Given the description of an element on the screen output the (x, y) to click on. 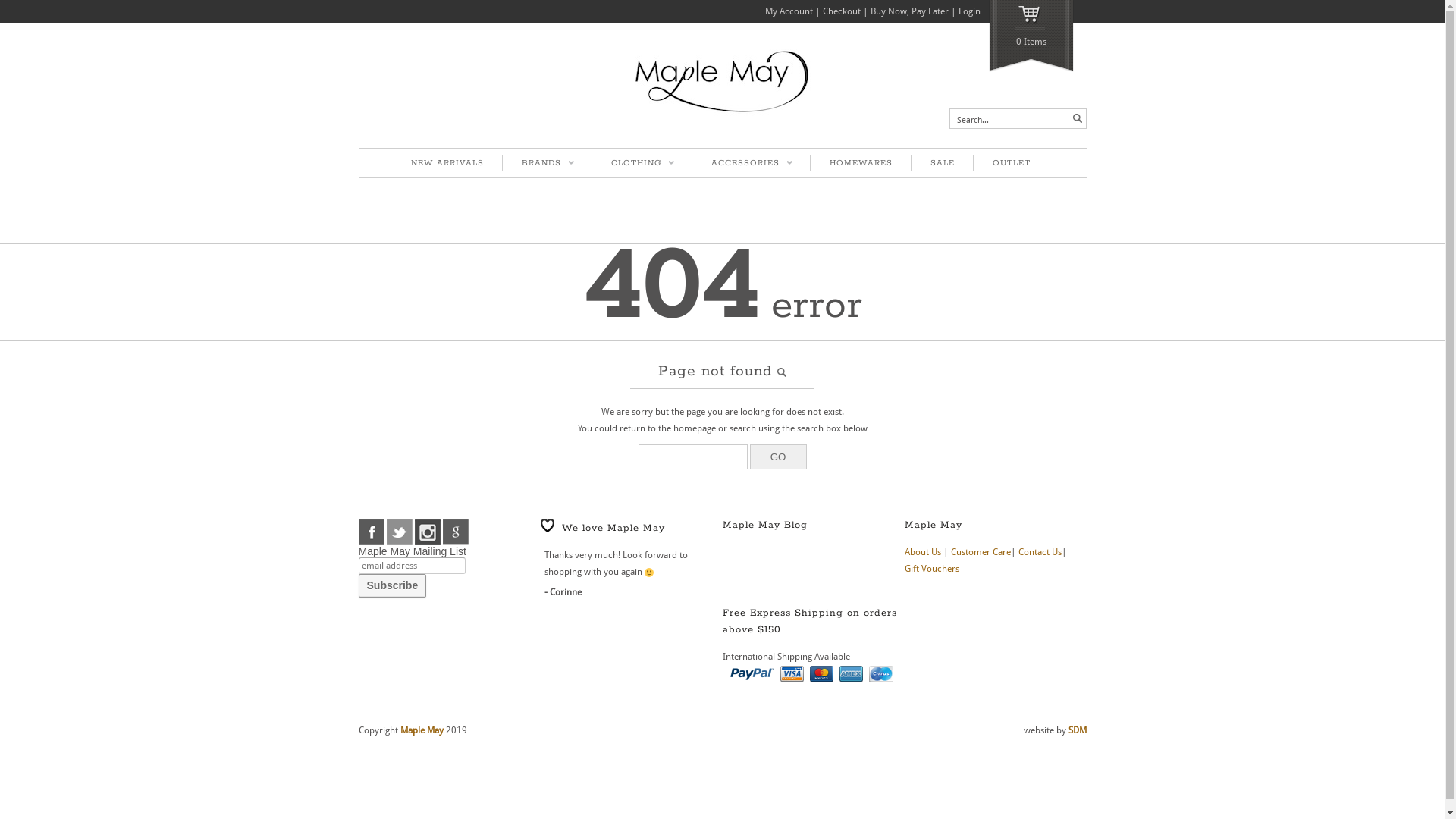
About Us Element type: text (921, 551)
instagram Element type: text (426, 532)
Login Element type: text (969, 11)
SALE Element type: text (941, 162)
Corinne Element type: text (559, 591)
Buy Now, Pay Later Element type: text (909, 11)
Customer Care Element type: text (980, 551)
facebook Element type: text (370, 532)
SDM Element type: text (1076, 729)
  Element type: text (1076, 118)
0 Items Element type: text (1030, 36)
My Account Element type: text (788, 11)
OUTLET Element type: text (1010, 162)
homepage Element type: text (694, 428)
Checkout Element type: text (840, 11)
NEW ARRIVALS Element type: text (447, 162)
GO Element type: text (777, 456)
google Element type: text (455, 532)
Maple May Element type: text (421, 729)
Contact Us Element type: text (1038, 551)
Gift Vouchers Element type: text (930, 568)
twitter Element type: text (399, 532)
HOMEWARES Element type: text (860, 162)
Subscribe Element type: text (391, 585)
